Given the description of an element on the screen output the (x, y) to click on. 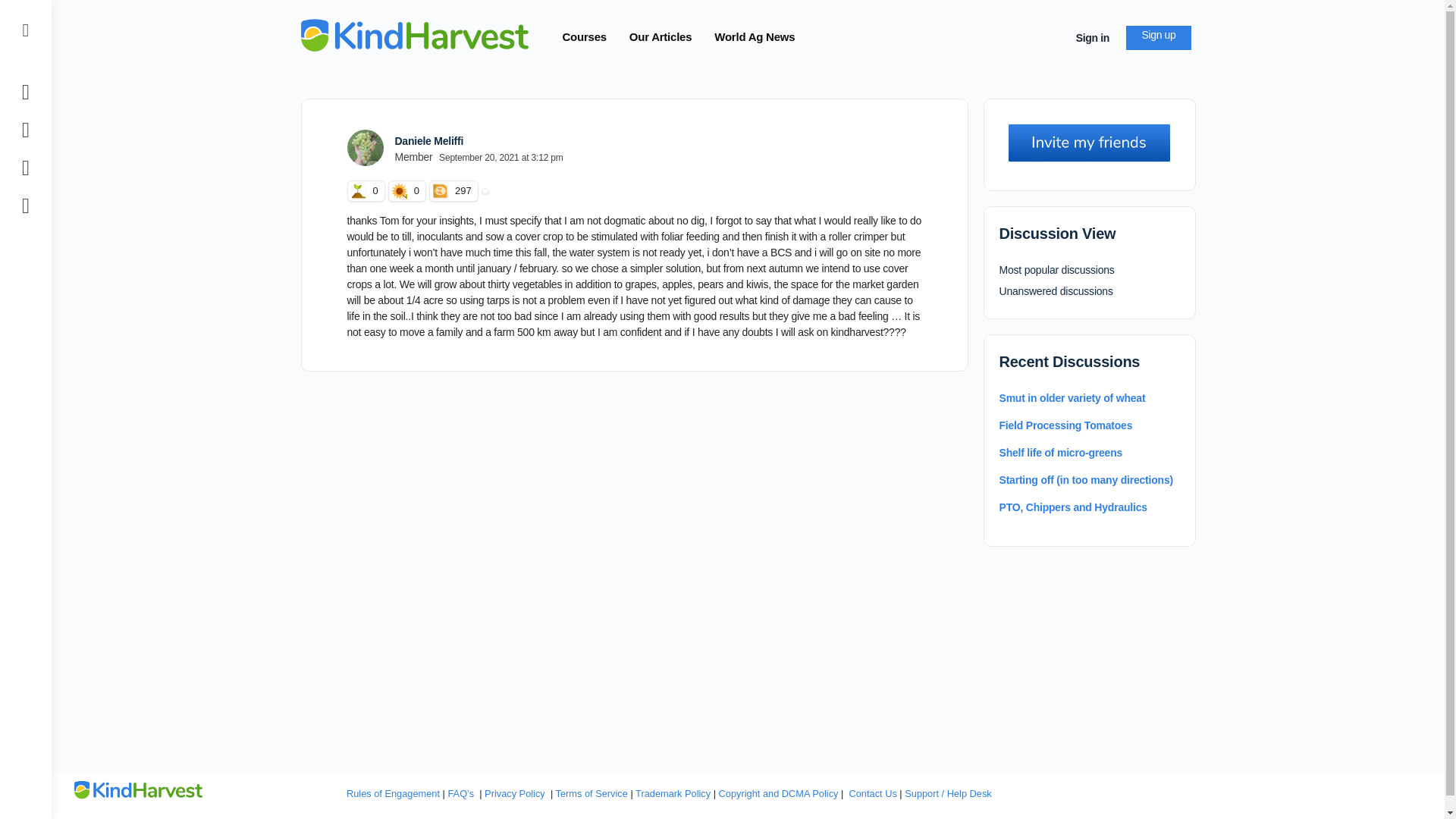
World Ag News (754, 37)
Our Articles (659, 37)
Courses (584, 37)
Sign in (1092, 37)
Unanswered discussions (1055, 291)
Smut in older variety of wheat (1071, 398)
View Daniele Meliffi's profile (365, 147)
Field Processing Tomatoes (1065, 425)
Most popular discussions (1056, 269)
Daniele Meliffi (428, 141)
View Daniele Meliffi's profile (428, 141)
Rules of Engagement (392, 793)
Sign up (1158, 37)
PTO, Chippers and Hydraulics (1072, 507)
Shelf life of micro-greens (1060, 452)
